Given the description of an element on the screen output the (x, y) to click on. 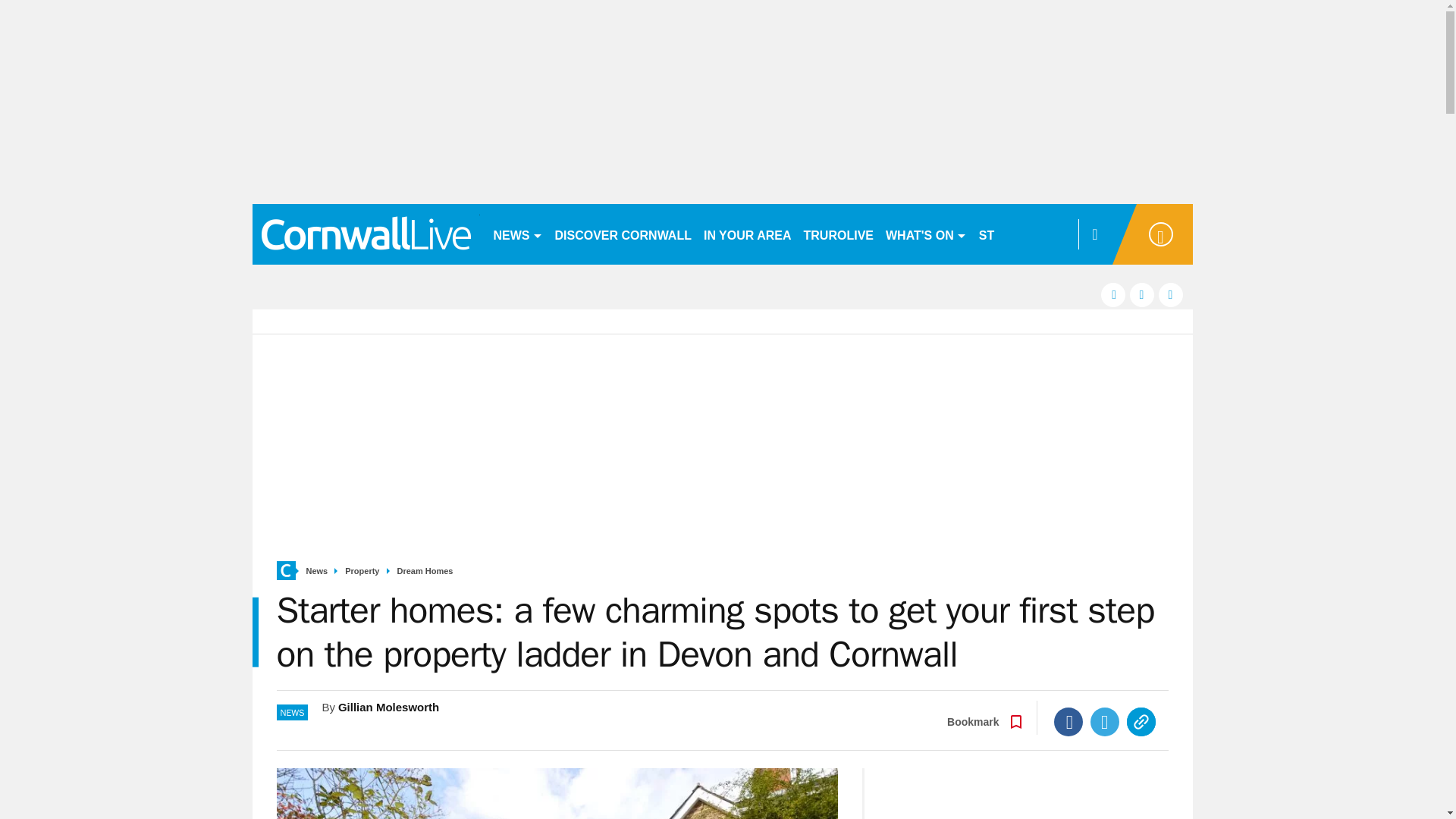
facebook (1112, 294)
IN YOUR AREA (747, 233)
ST AUSTELL (1015, 233)
WHAT'S ON (925, 233)
Facebook (1068, 721)
NEWS (517, 233)
cornwalllive (365, 233)
twitter (1141, 294)
Twitter (1104, 721)
DISCOVER CORNWALL (622, 233)
TRUROLIVE (838, 233)
instagram (1170, 294)
